Given the description of an element on the screen output the (x, y) to click on. 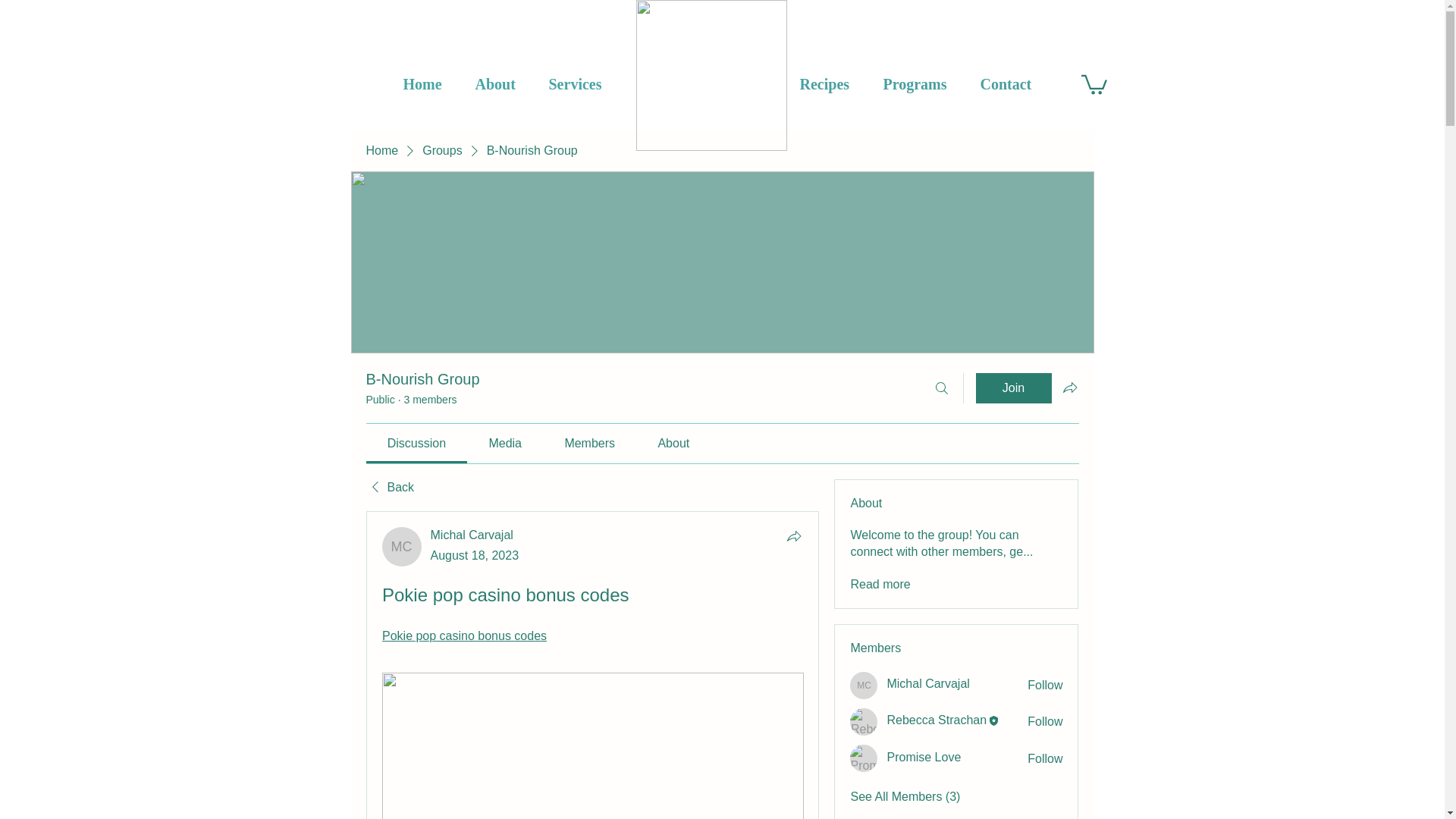
Programs (923, 83)
Contact (1014, 83)
Promise Love (923, 757)
Follow (1044, 721)
Michal Carvajal (863, 685)
Services (584, 83)
Michal Carvajal (401, 546)
Michal Carvajal (471, 534)
Rebecca Strachan (936, 719)
Michal Carvajal (471, 534)
